Given the description of an element on the screen output the (x, y) to click on. 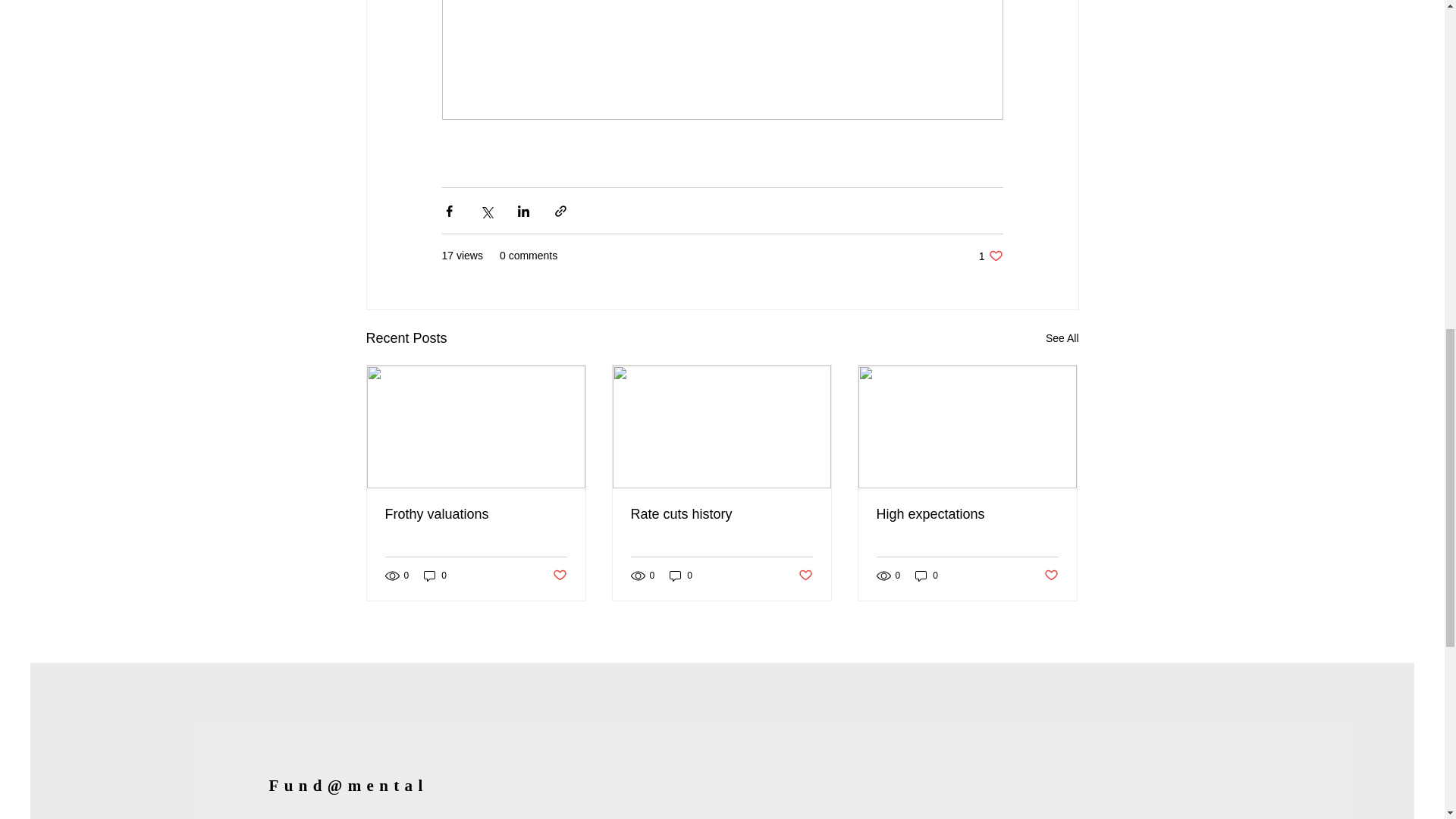
Frothy valuations (476, 514)
Post not marked as liked (1050, 575)
Rate cuts history (721, 514)
See All (1061, 338)
Post not marked as liked (804, 575)
0 (681, 575)
High expectations (967, 514)
0 (926, 575)
0 (990, 255)
